Given the description of an element on the screen output the (x, y) to click on. 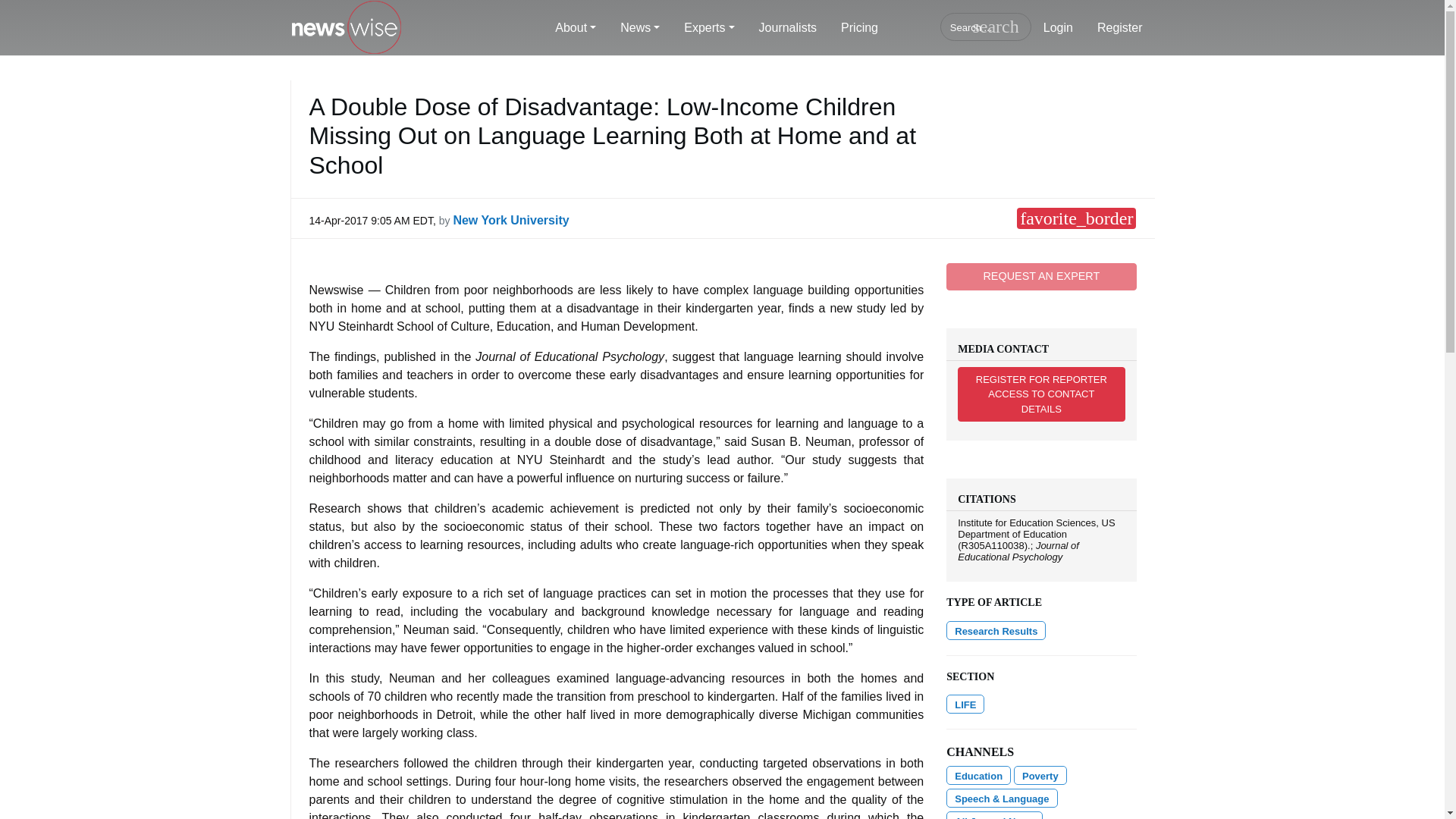
Add to Favorites (1075, 218)
Show all articles in this channel (1001, 797)
News (639, 27)
Show all articles in this channel (978, 774)
Newswise logo (345, 28)
Research Results (995, 629)
About (575, 27)
Show all articles in this channel (965, 703)
Show all articles in this channel (1040, 774)
